Given the description of an element on the screen output the (x, y) to click on. 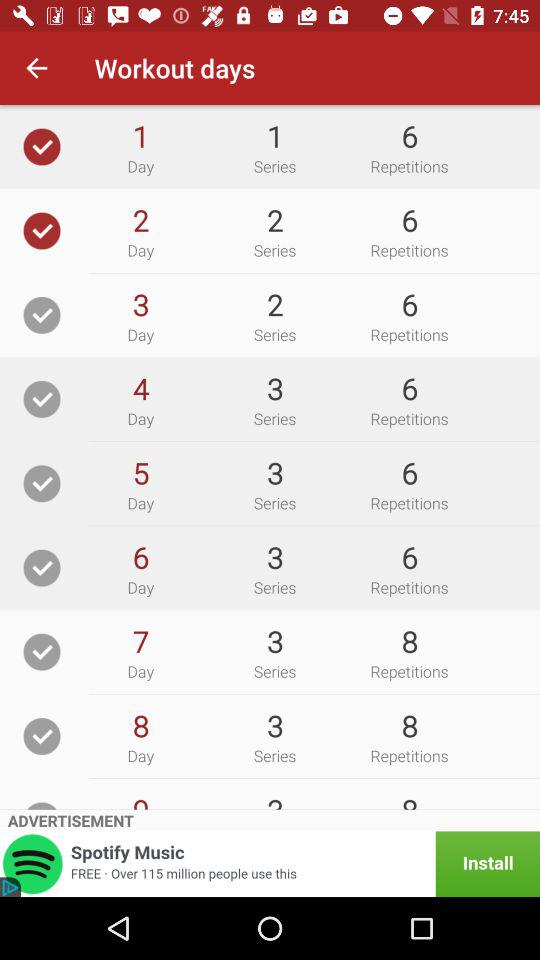
tap the item above day item (140, 388)
